Given the description of an element on the screen output the (x, y) to click on. 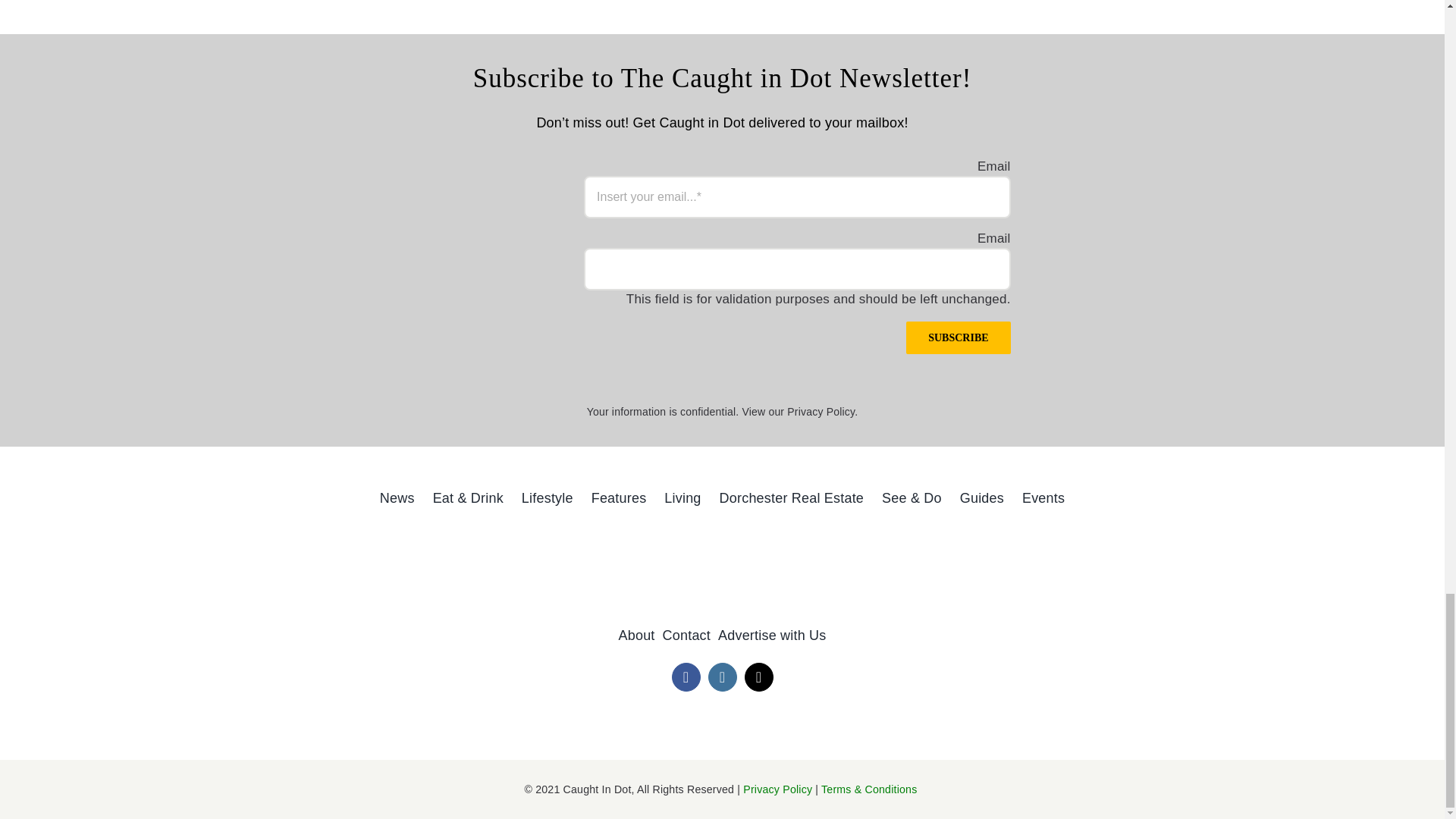
Subscribe (957, 337)
